Given the description of an element on the screen output the (x, y) to click on. 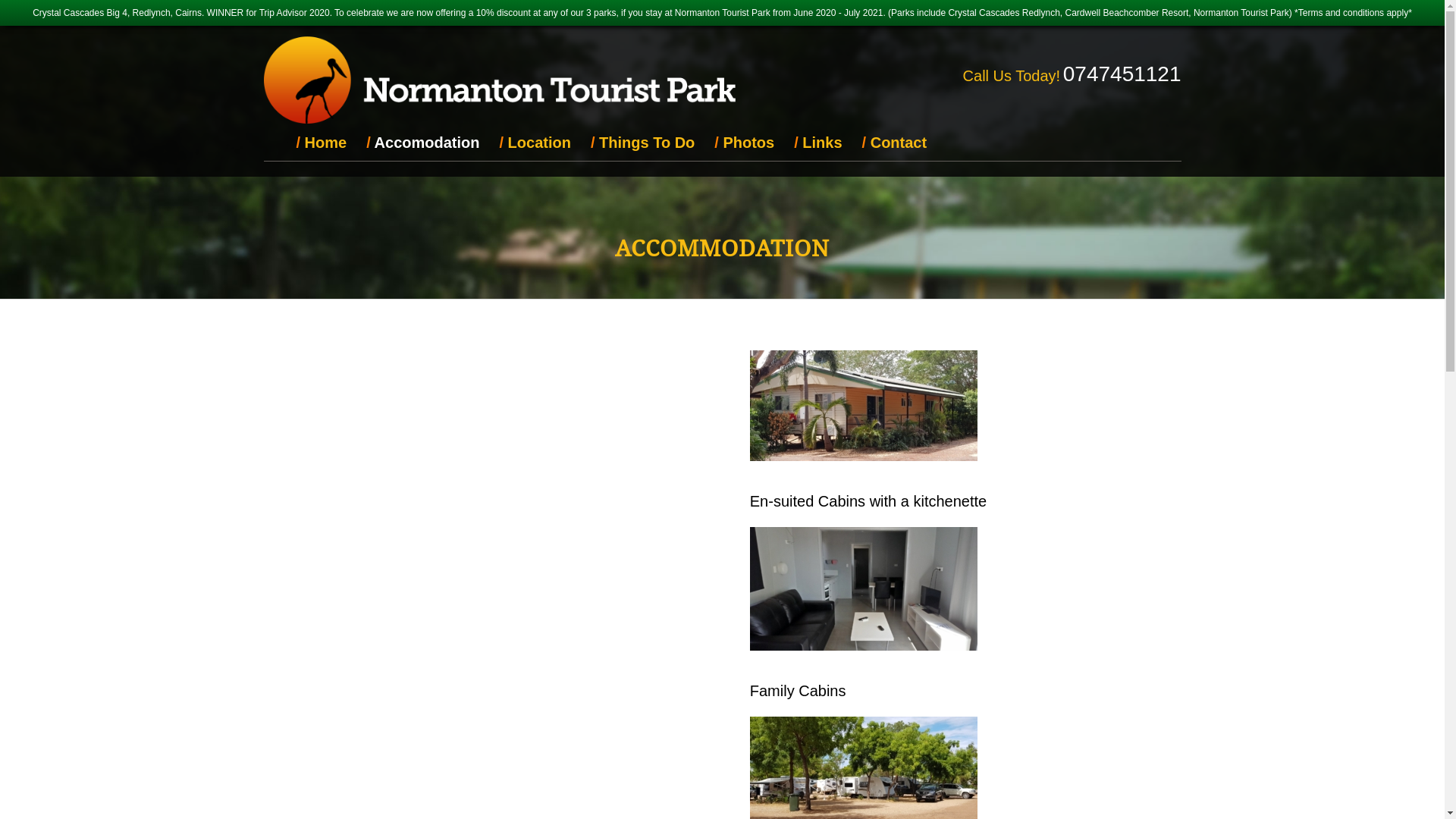
/ Contact Element type: text (894, 142)
/ Things To Do Element type: text (642, 142)
/ Accomodation Element type: text (422, 142)
/ Location Element type: text (534, 142)
/ Home Element type: text (321, 142)
/ Photos Element type: text (744, 142)
/ Links Element type: text (817, 142)
